Given the description of an element on the screen output the (x, y) to click on. 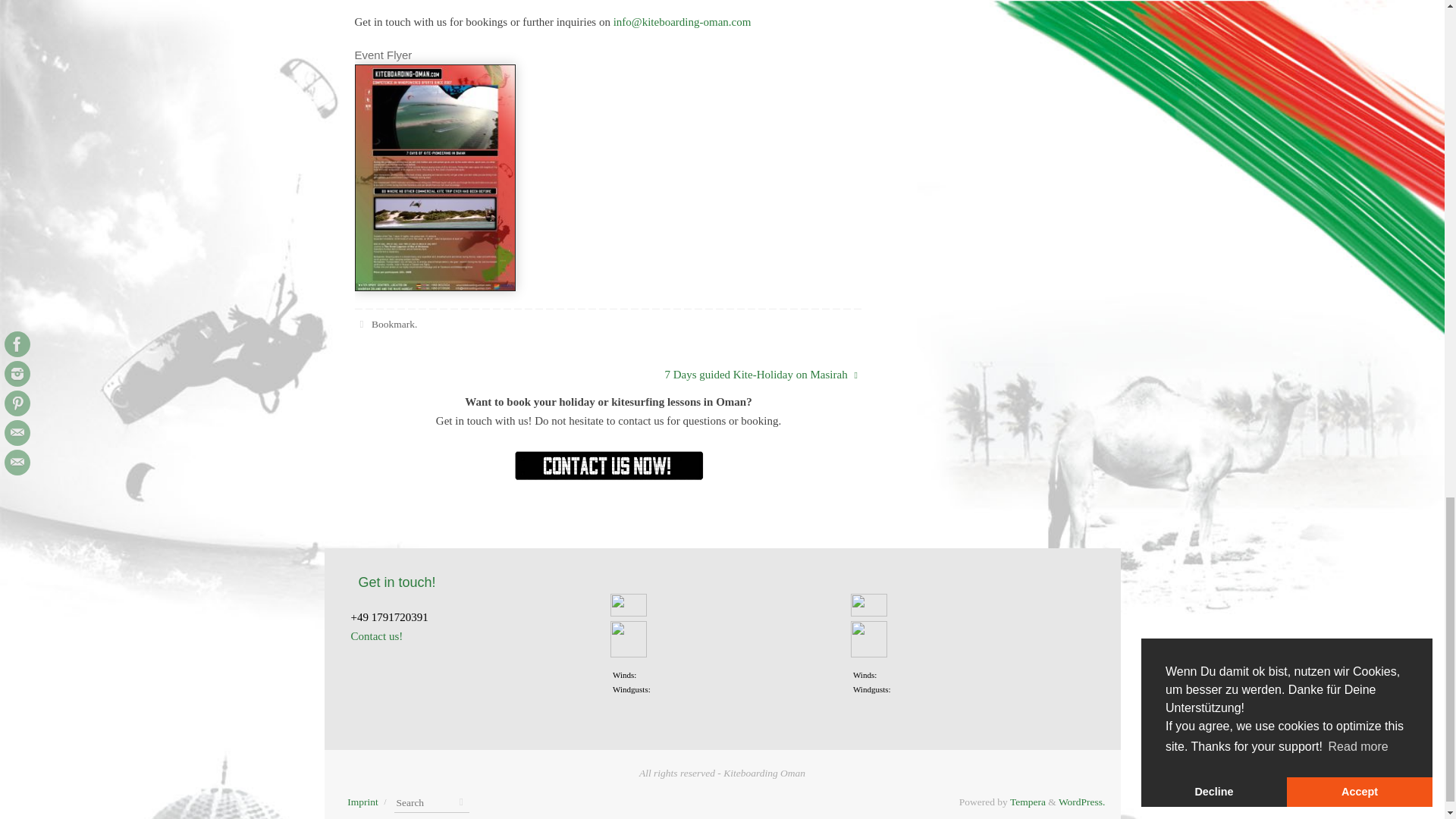
 Bookmark the permalink (362, 324)
Permalink to Pioneer Trips Kiteboarding-Oman (392, 324)
